Given the description of an element on the screen output the (x, y) to click on. 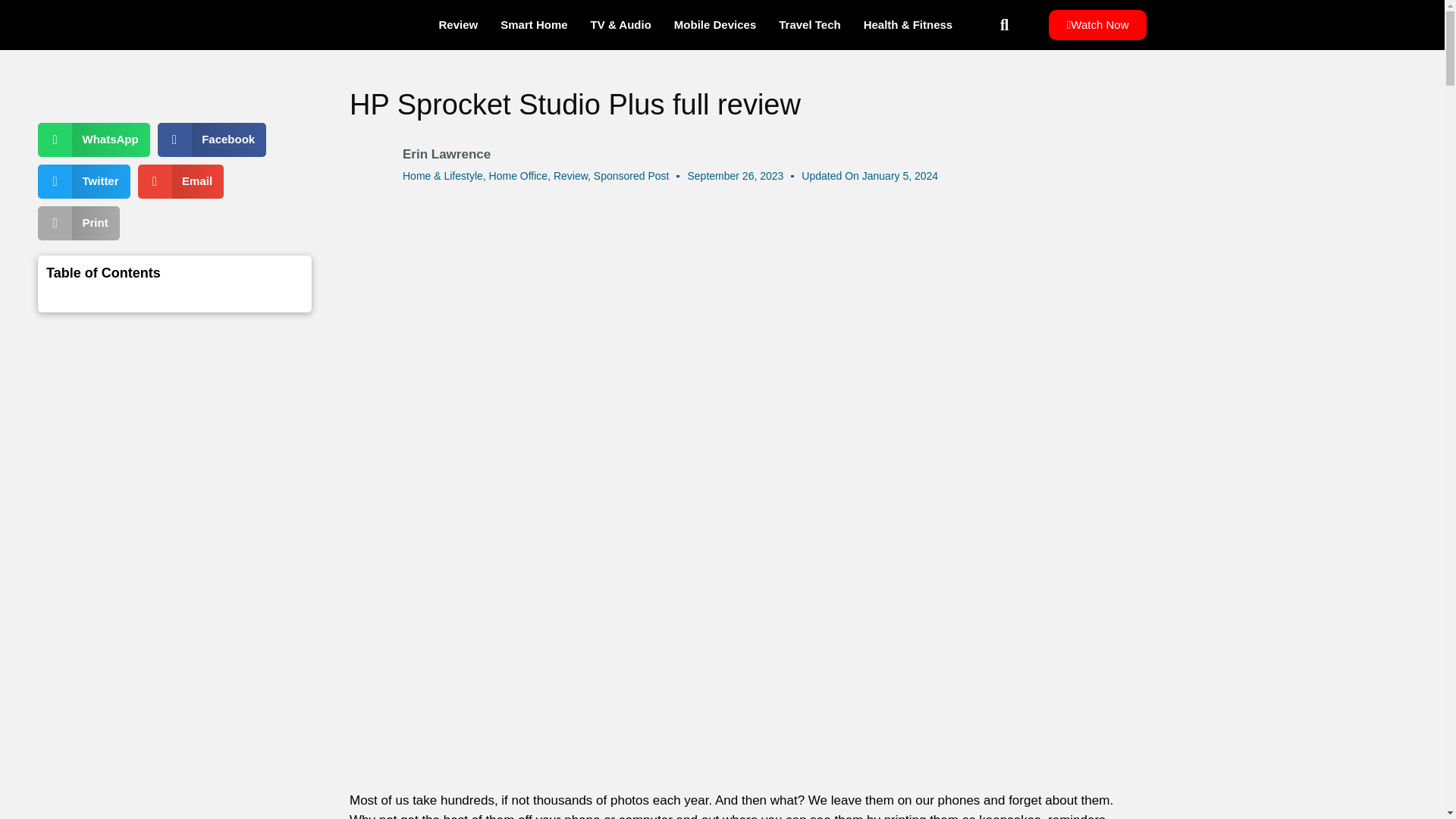
September 26, 2023 (735, 176)
Home Office (518, 175)
Watch Now (1097, 24)
Smart Home (533, 24)
Sponsored Post (631, 175)
Mobile Devices (714, 24)
Review (458, 24)
Travel Tech (809, 24)
Review (570, 175)
